Given the description of an element on the screen output the (x, y) to click on. 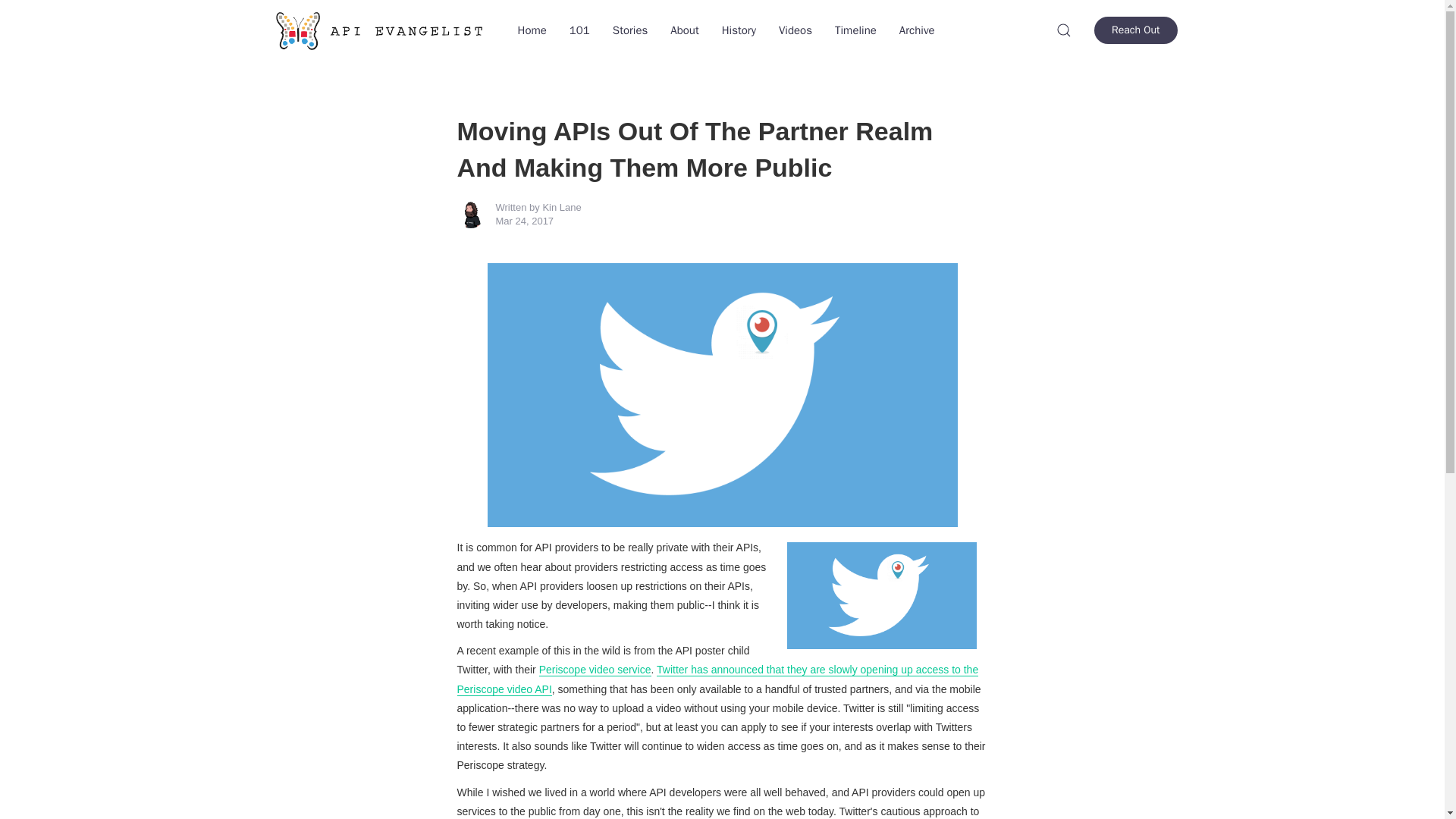
Reach Out (1135, 30)
Archive (917, 30)
Timeline (856, 30)
History (738, 30)
Periscope video service (594, 669)
Stories (630, 30)
Videos (795, 30)
